Given the description of an element on the screen output the (x, y) to click on. 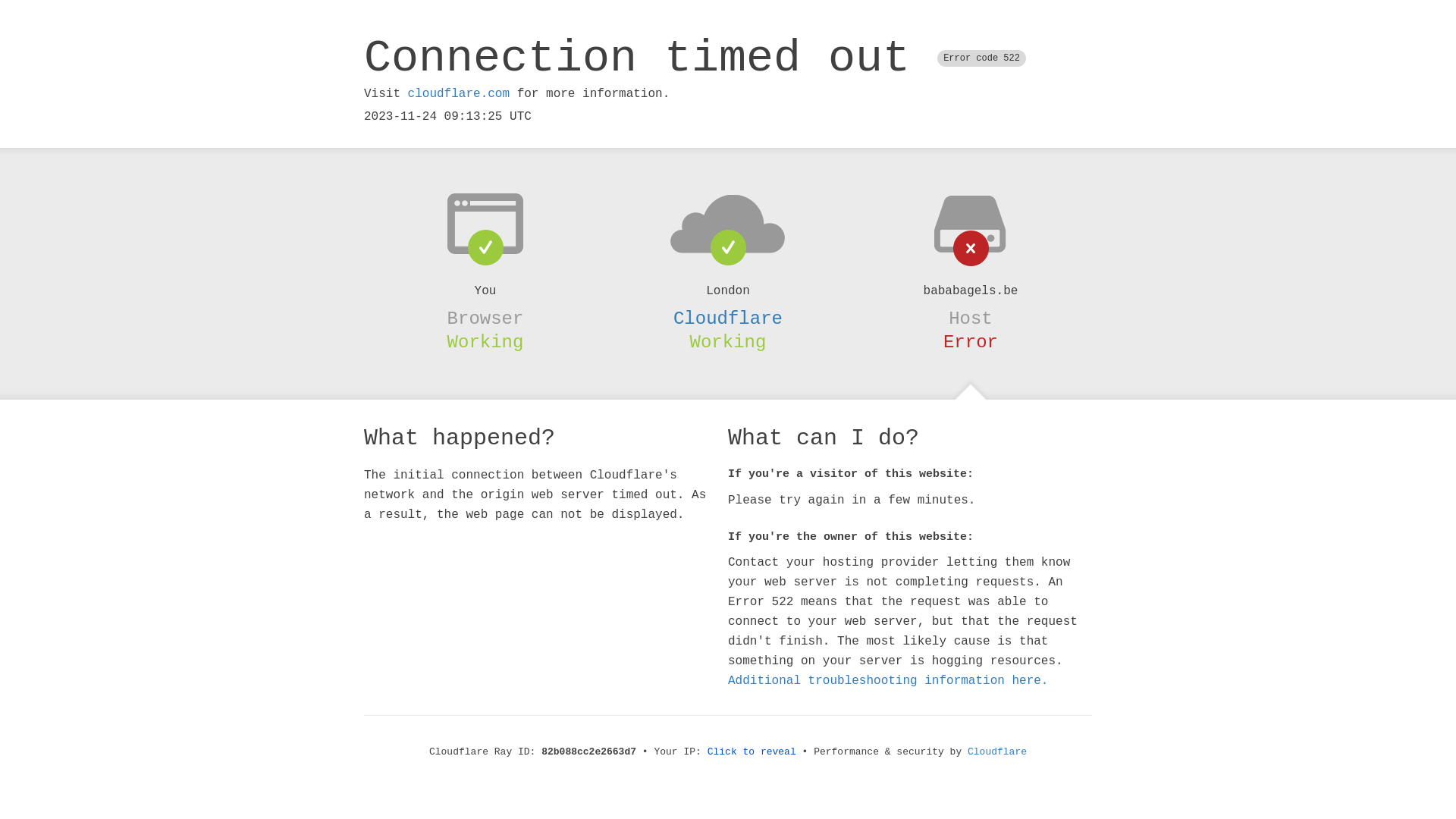
Cloudflare Element type: text (727, 318)
Cloudflare Element type: text (996, 751)
Click to reveal Element type: text (751, 751)
cloudflare.com Element type: text (458, 93)
Additional troubleshooting information here. Element type: text (888, 680)
